Given the description of an element on the screen output the (x, y) to click on. 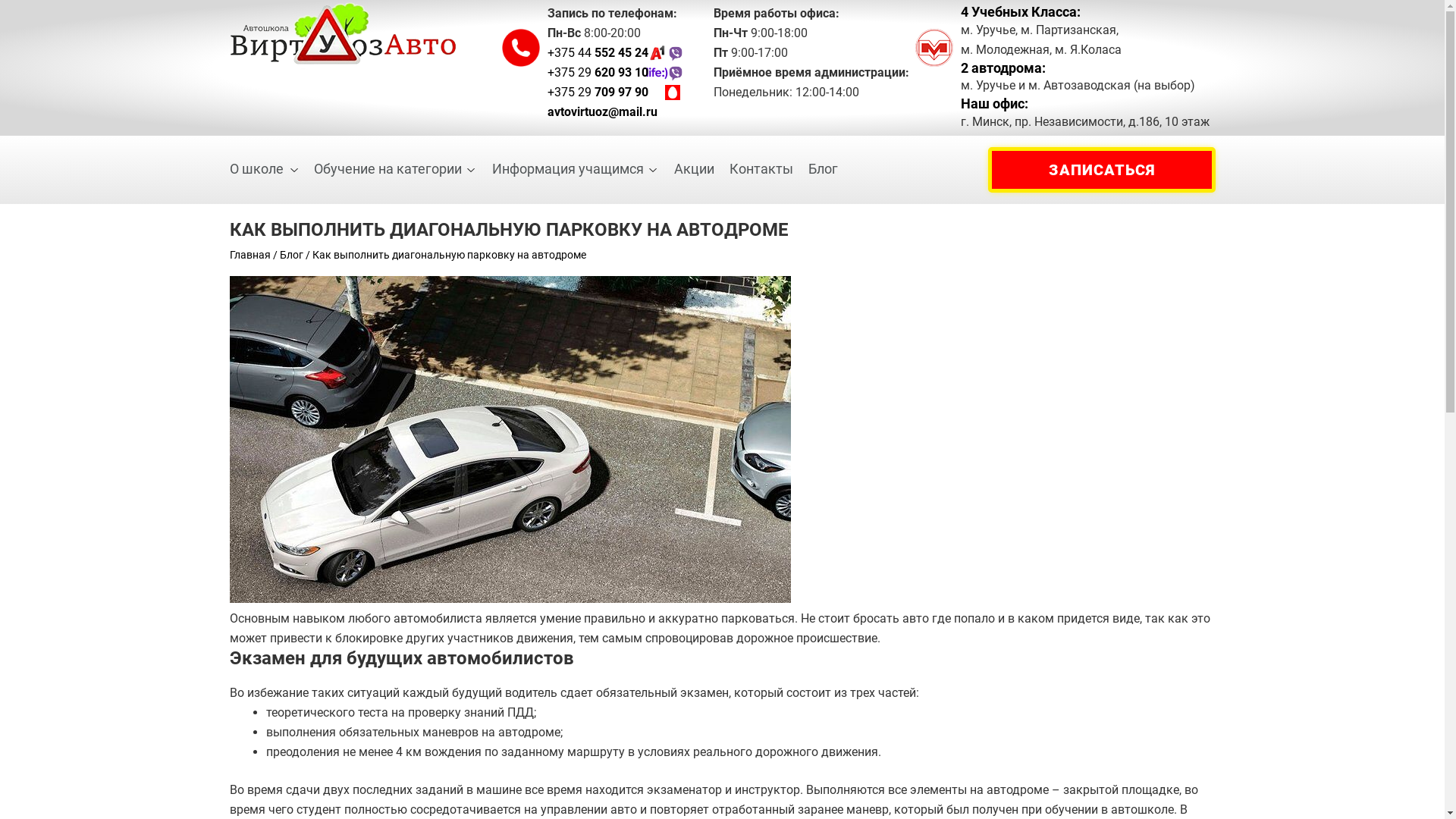
+375 44 552 45 24 Element type: text (615, 52)
+375 29 620 93 10 Element type: text (615, 72)
+375 29 709 97 90 Element type: text (613, 92)
avtovirtuoz@mail.ru Element type: text (615, 112)
